Given the description of an element on the screen output the (x, y) to click on. 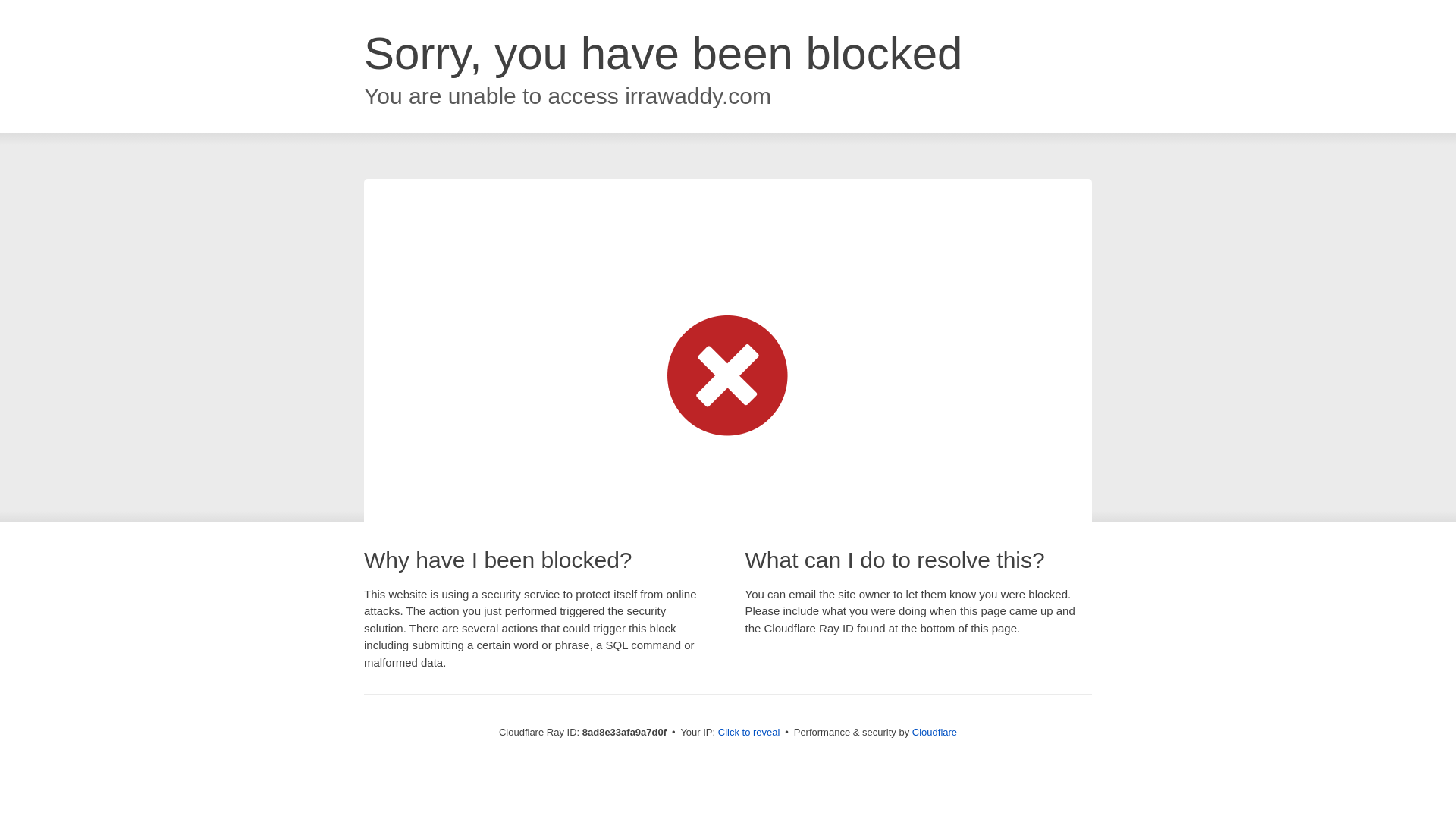
Click to reveal (748, 732)
Cloudflare (934, 731)
